Given the description of an element on the screen output the (x, y) to click on. 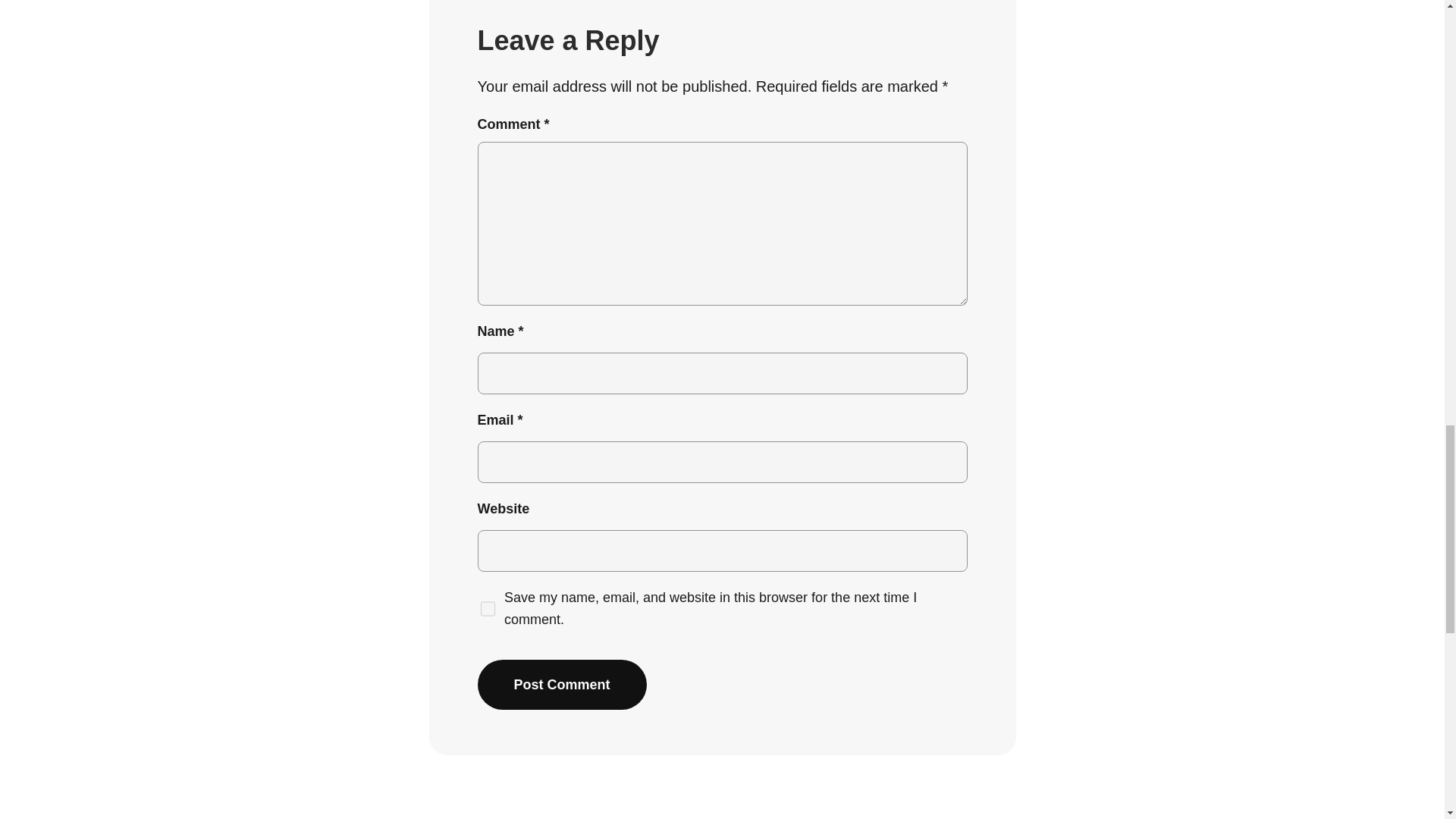
Post Comment (561, 685)
Post Comment (561, 685)
